Given the description of an element on the screen output the (x, y) to click on. 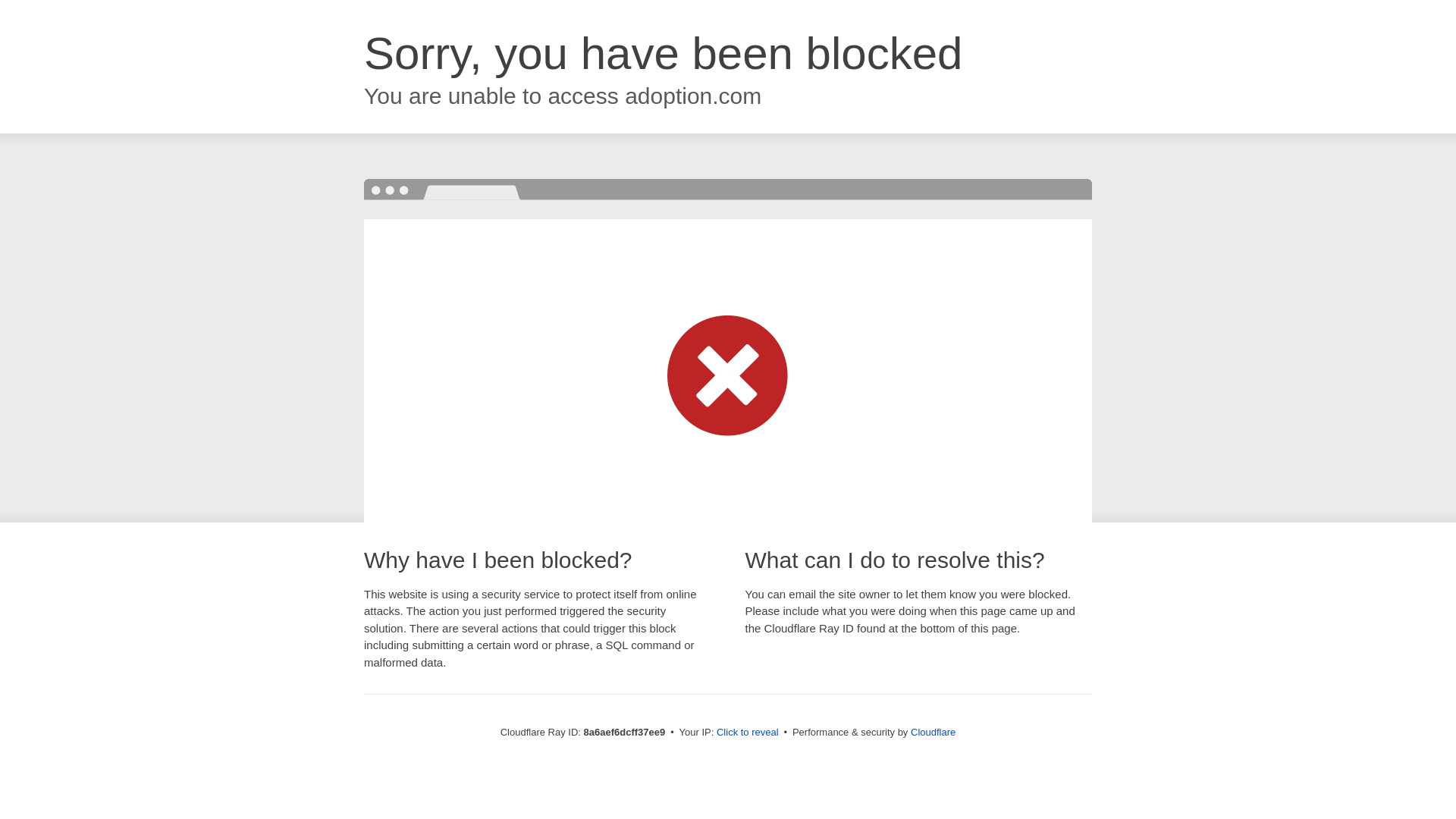
Click to reveal (747, 732)
Cloudflare (933, 731)
